Given the description of an element on the screen output the (x, y) to click on. 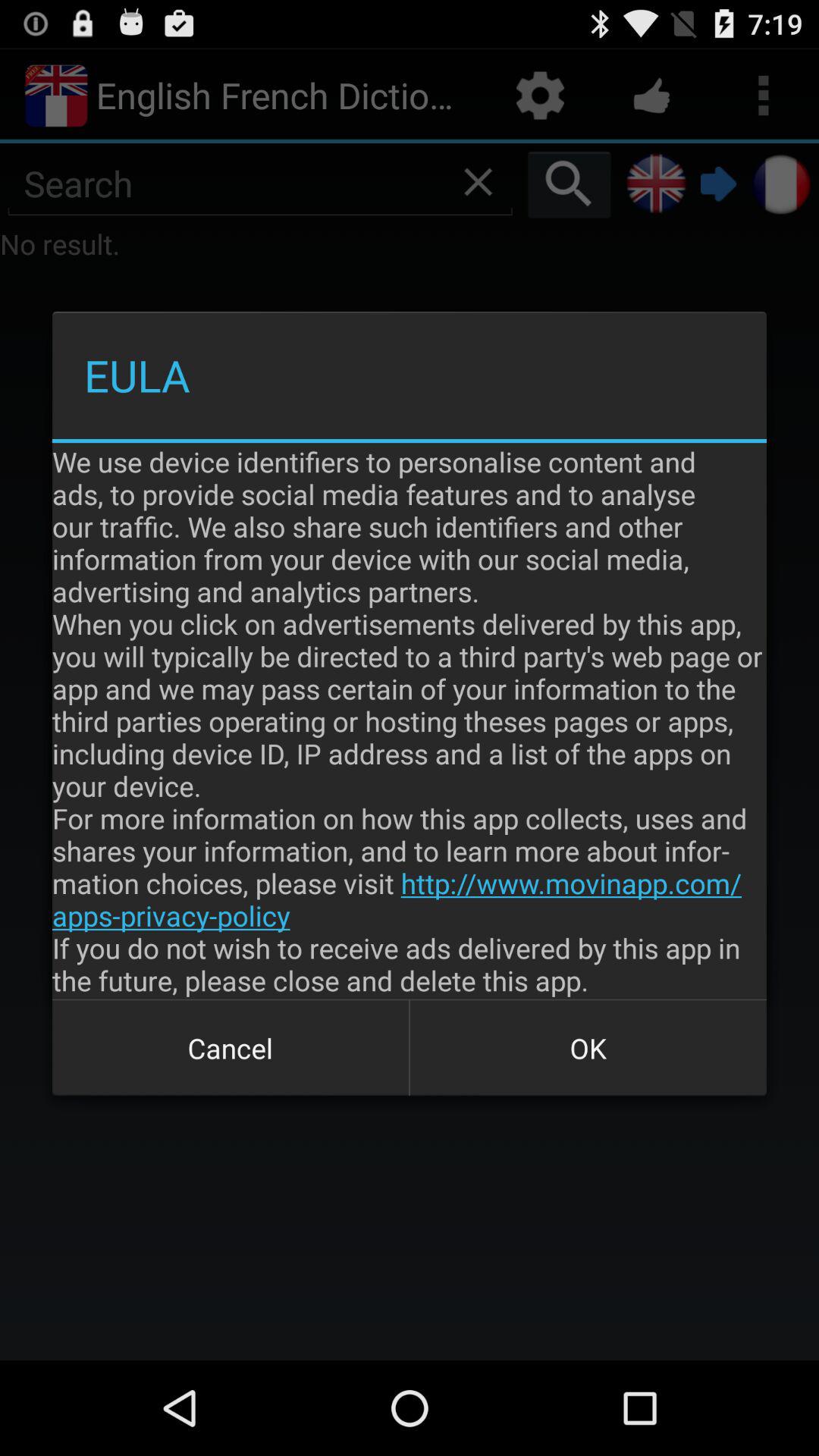
tap the icon at the bottom right corner (588, 1047)
